Given the description of an element on the screen output the (x, y) to click on. 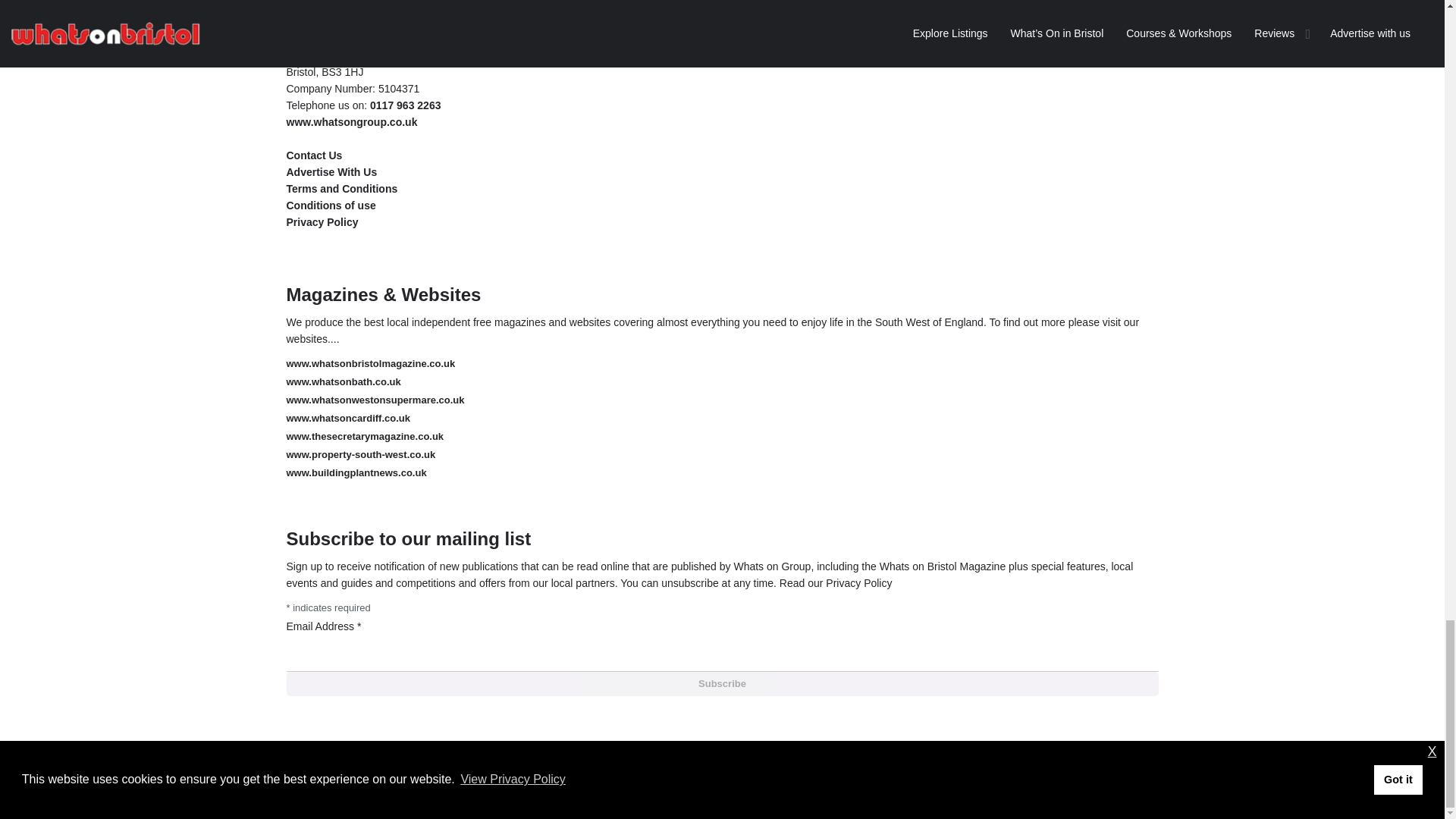
Privacy Policy (858, 582)
www.whatsonbristolmagazine.co.uk (370, 363)
Subscribe (722, 683)
Terms and Conditions (341, 188)
www.whatsoncardiff.co.uk (348, 418)
Advertise With Us (331, 172)
www.whatsongroup.co.uk (351, 121)
Privacy Policy (322, 222)
www.whatsonbath.co.uk (343, 381)
www.whatsonwestonsupermare.co.uk (375, 399)
Subscribe (722, 683)
www.buildingplantnews.co.uk (356, 472)
Conditions of use (330, 205)
www.thesecretarymagazine.co.uk (365, 436)
Contact Us (314, 155)
